Given the description of an element on the screen output the (x, y) to click on. 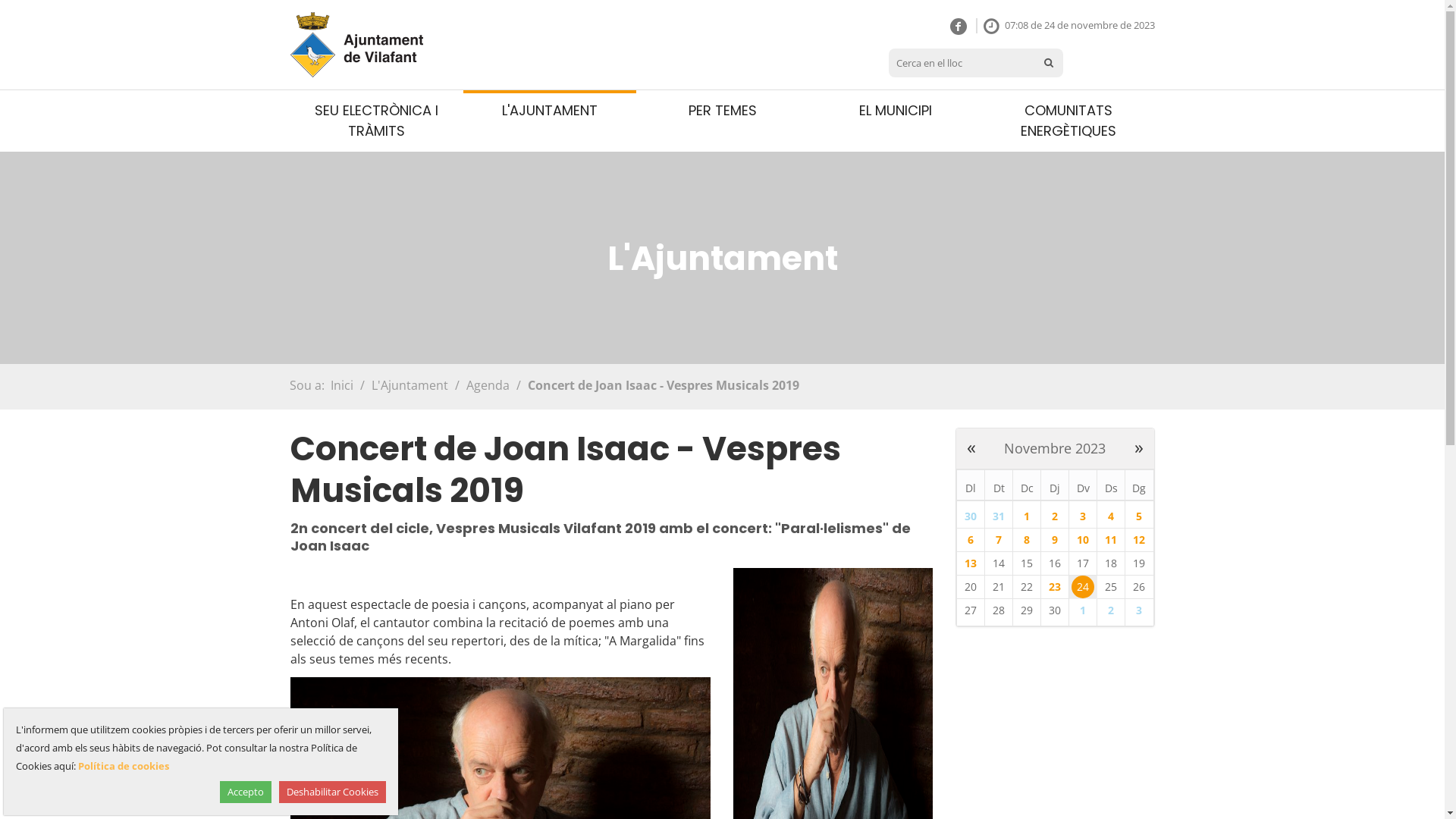
Facebook Element type: hover (958, 26)
7 Element type: text (998, 539)
1 Element type: text (1082, 610)
PER TEMES Element type: text (721, 110)
Inici Element type: text (341, 384)
Cerca en el lloc Element type: hover (961, 62)
12 Element type: text (1138, 539)
4 Element type: text (1110, 516)
3 Element type: text (1138, 610)
8 Element type: text (1026, 539)
2 Element type: text (1054, 516)
Deshabilitar Cookies Element type: text (332, 792)
L'Ajuntament Element type: text (409, 384)
9 Element type: text (1054, 539)
10 Element type: text (1082, 539)
11 Element type: text (1110, 539)
L'AJUNTAMENT Element type: text (548, 110)
31 Element type: text (998, 516)
13 Element type: text (970, 563)
1 Element type: text (1026, 516)
EL MUNICIPI Element type: text (894, 110)
Accepto Element type: text (245, 792)
Inici Element type: hover (355, 44)
Cerca Element type: text (1048, 62)
6 Element type: text (970, 539)
5 Element type: text (1138, 516)
Agenda Element type: text (486, 384)
home Element type: hover (389, 44)
2 Element type: text (1110, 610)
30 Element type: text (970, 516)
3 Element type: text (1082, 516)
23 Element type: text (1054, 586)
